Given the description of an element on the screen output the (x, y) to click on. 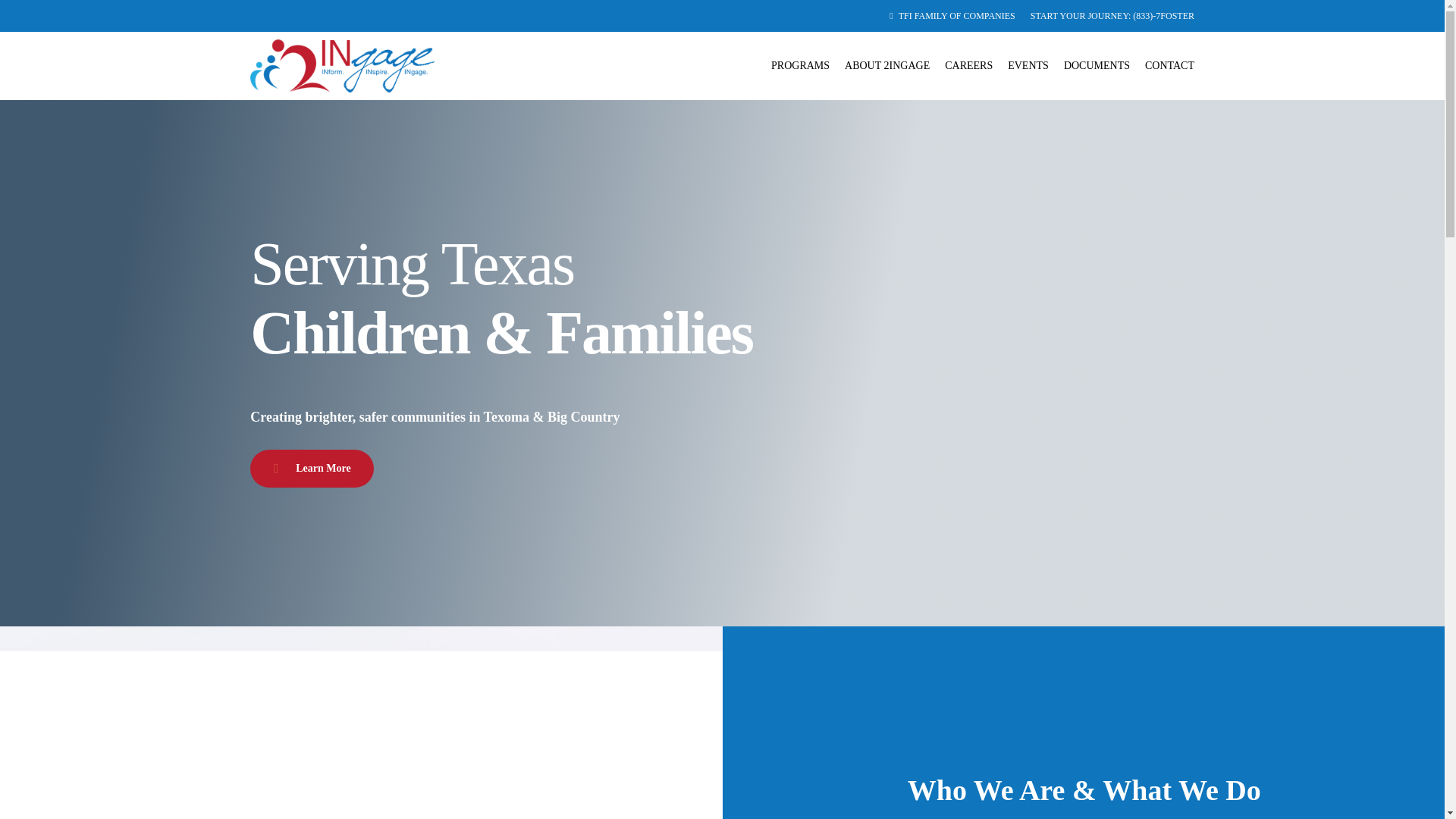
ABOUT 2INGAGE (887, 65)
CONTACT (1168, 65)
TFI FAMILY OF COMPANIES (951, 15)
Learn More (311, 468)
CAREERS (968, 65)
DOCUMENTS (1096, 65)
PROGRAMS (800, 65)
EVENTS (1027, 65)
